Given the description of an element on the screen output the (x, y) to click on. 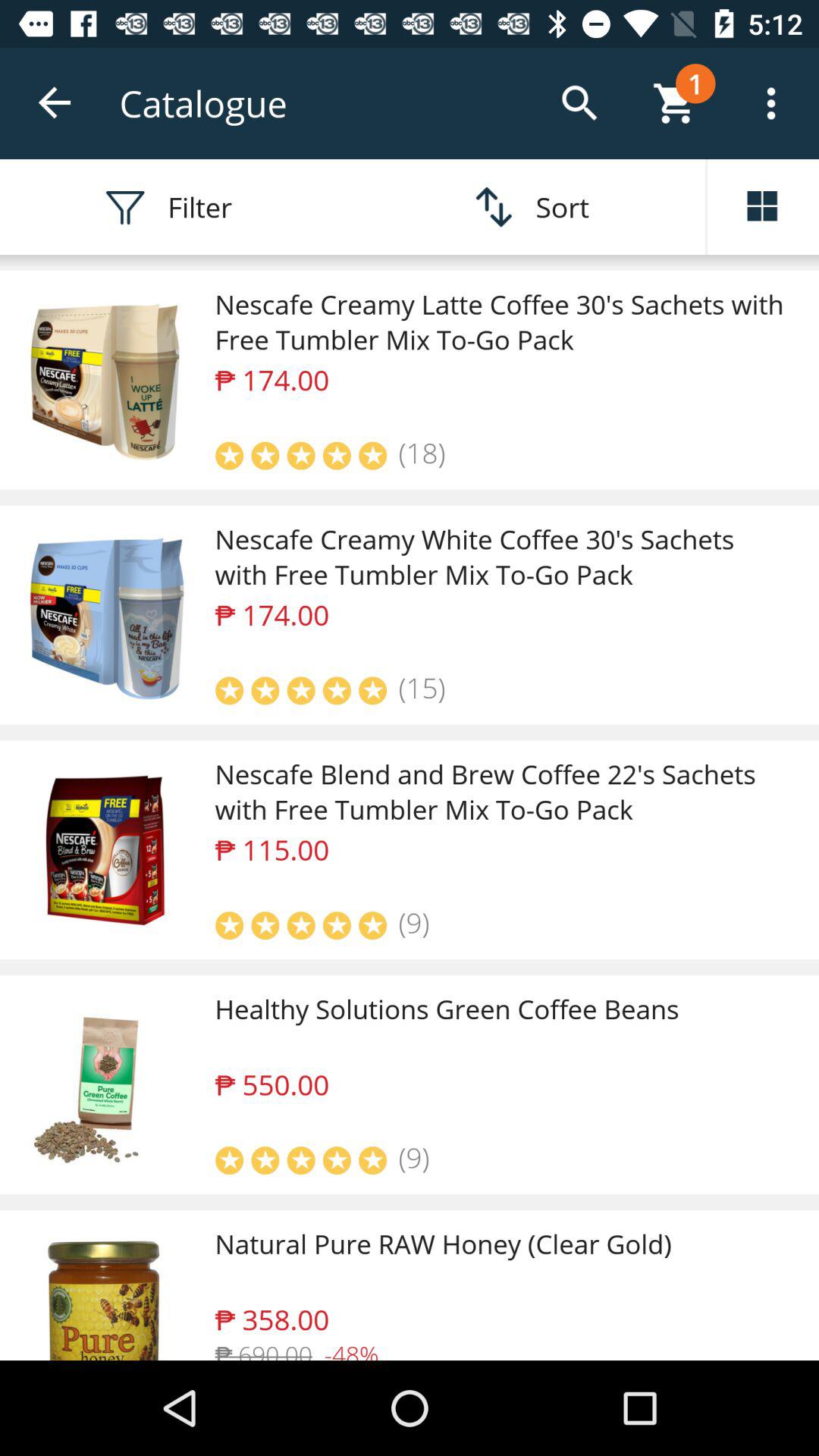
view windows (763, 206)
